Given the description of an element on the screen output the (x, y) to click on. 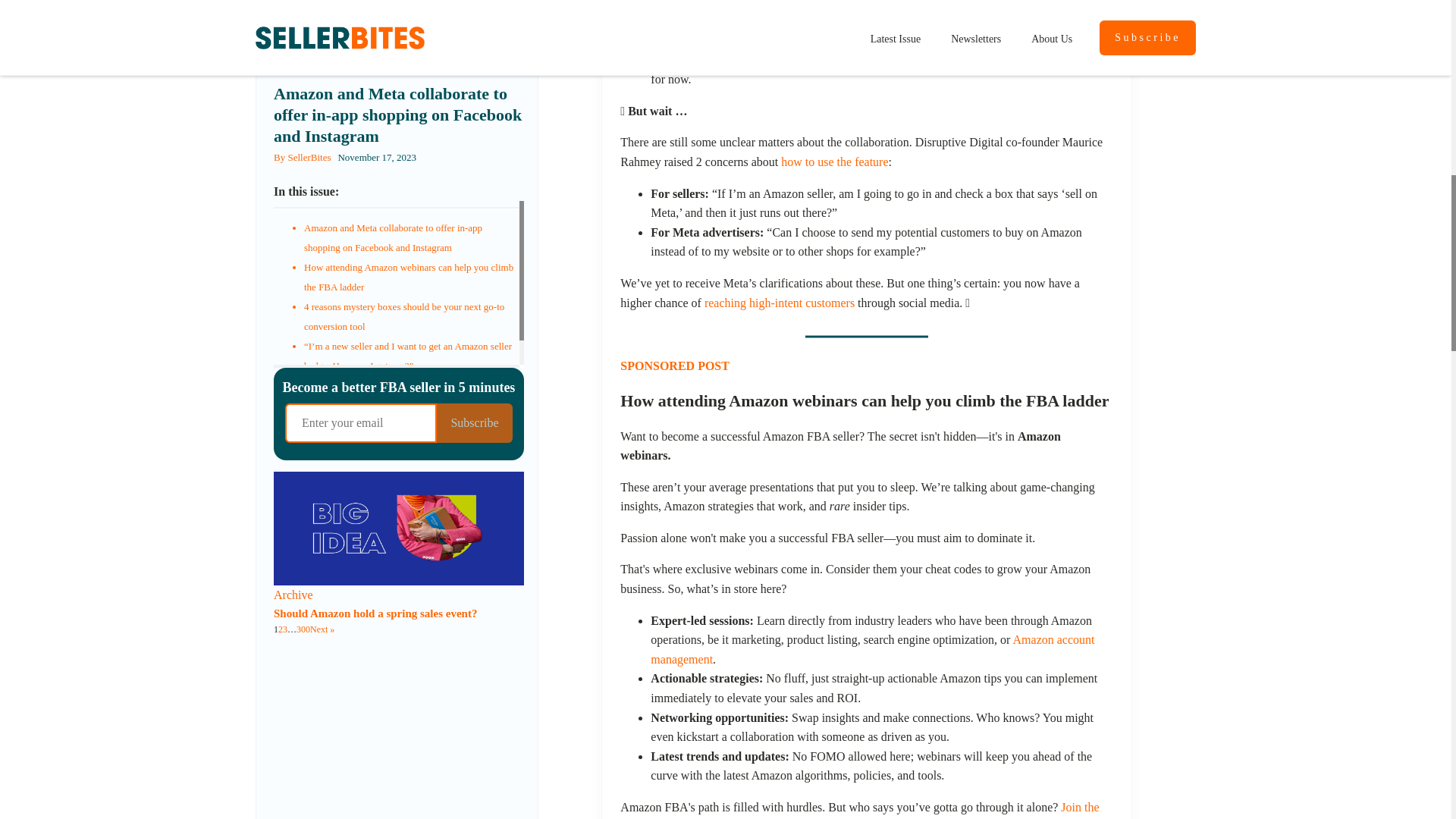
reaching high-intent customers (779, 302)
Join the Seller Alliance Community (859, 809)
Opens in a new window (834, 161)
Opens in a new window (1040, 4)
Opens in a new window (869, 4)
how to use the feature (834, 161)
discovery-based (1040, 4)
Amazon account management (872, 649)
Opens in a new window (872, 649)
intent-based (869, 4)
Opens in a new window (859, 809)
Opens in a new window (779, 302)
